Given the description of an element on the screen output the (x, y) to click on. 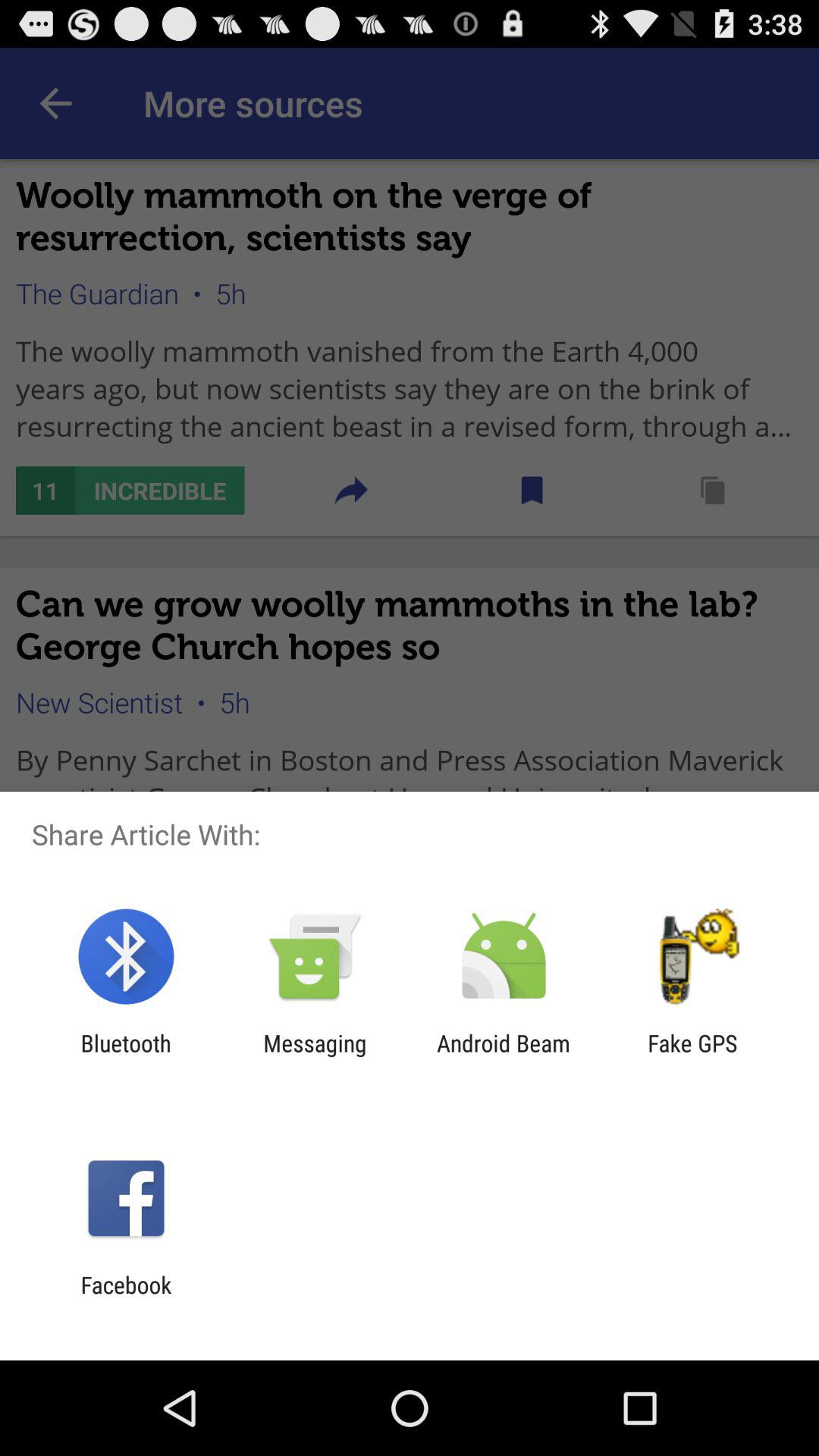
open the app next to android beam (314, 1056)
